Given the description of an element on the screen output the (x, y) to click on. 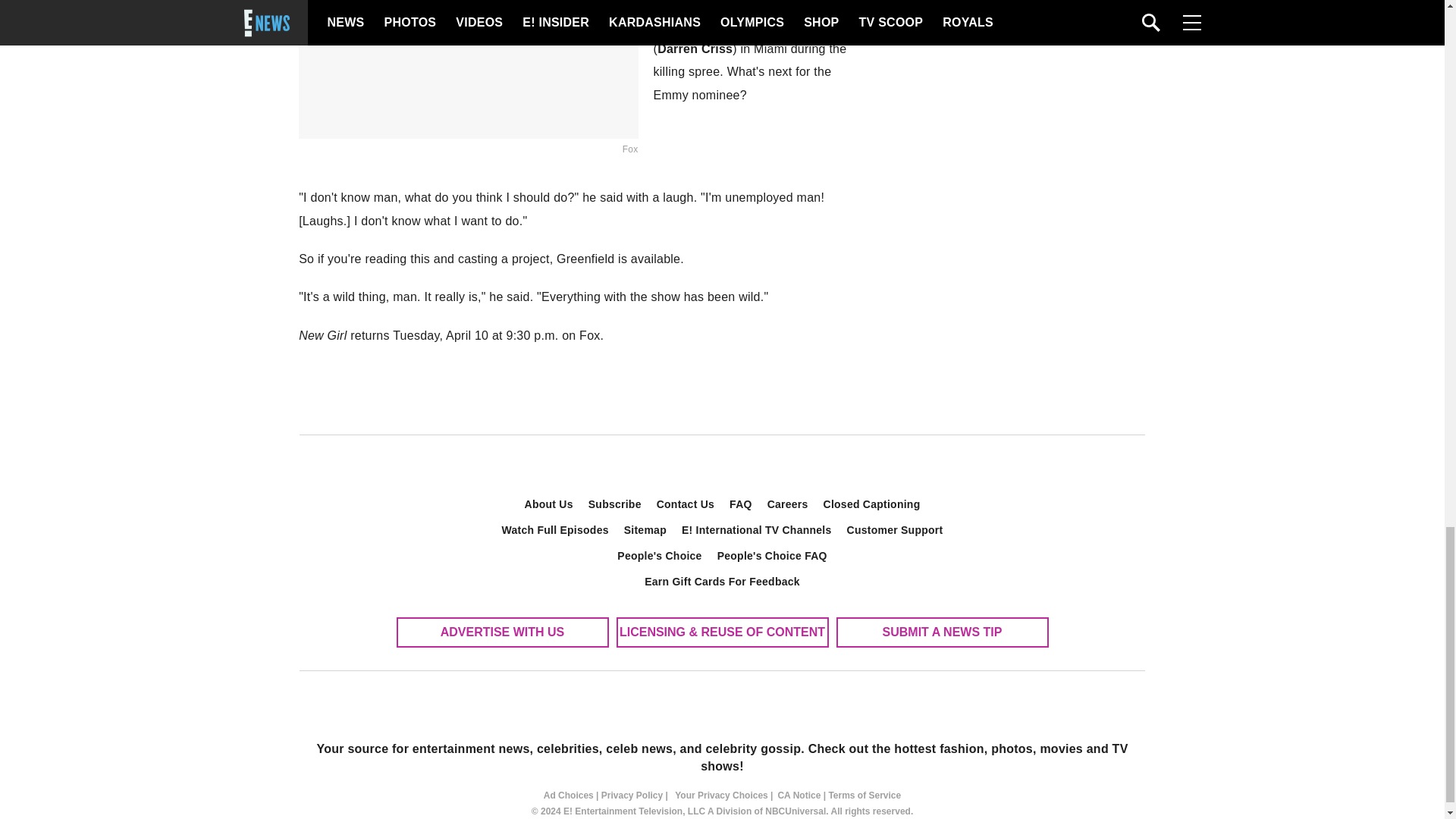
Subscribe (614, 503)
Contact Us (685, 503)
FAQ (741, 503)
About Us (548, 503)
